Given the description of an element on the screen output the (x, y) to click on. 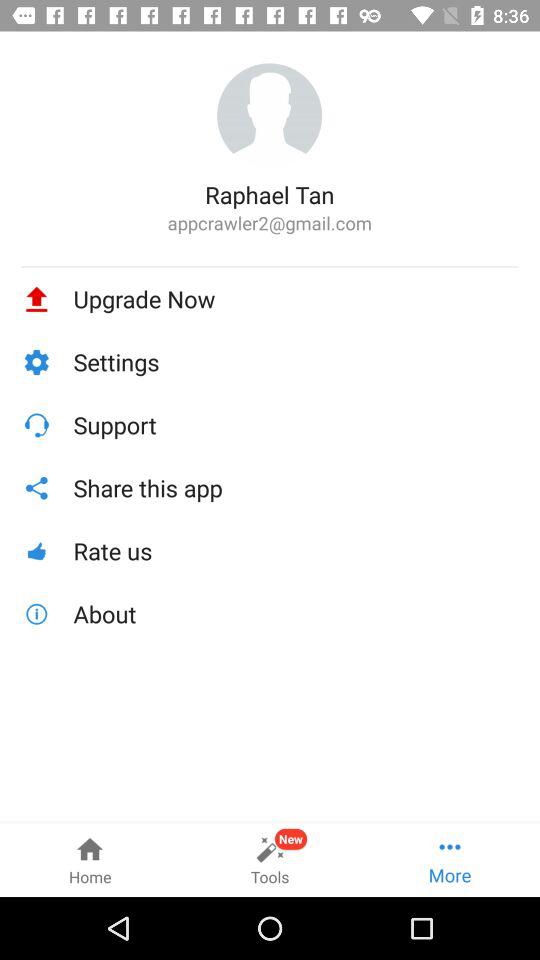
jump to upgrade now item (296, 299)
